Given the description of an element on the screen output the (x, y) to click on. 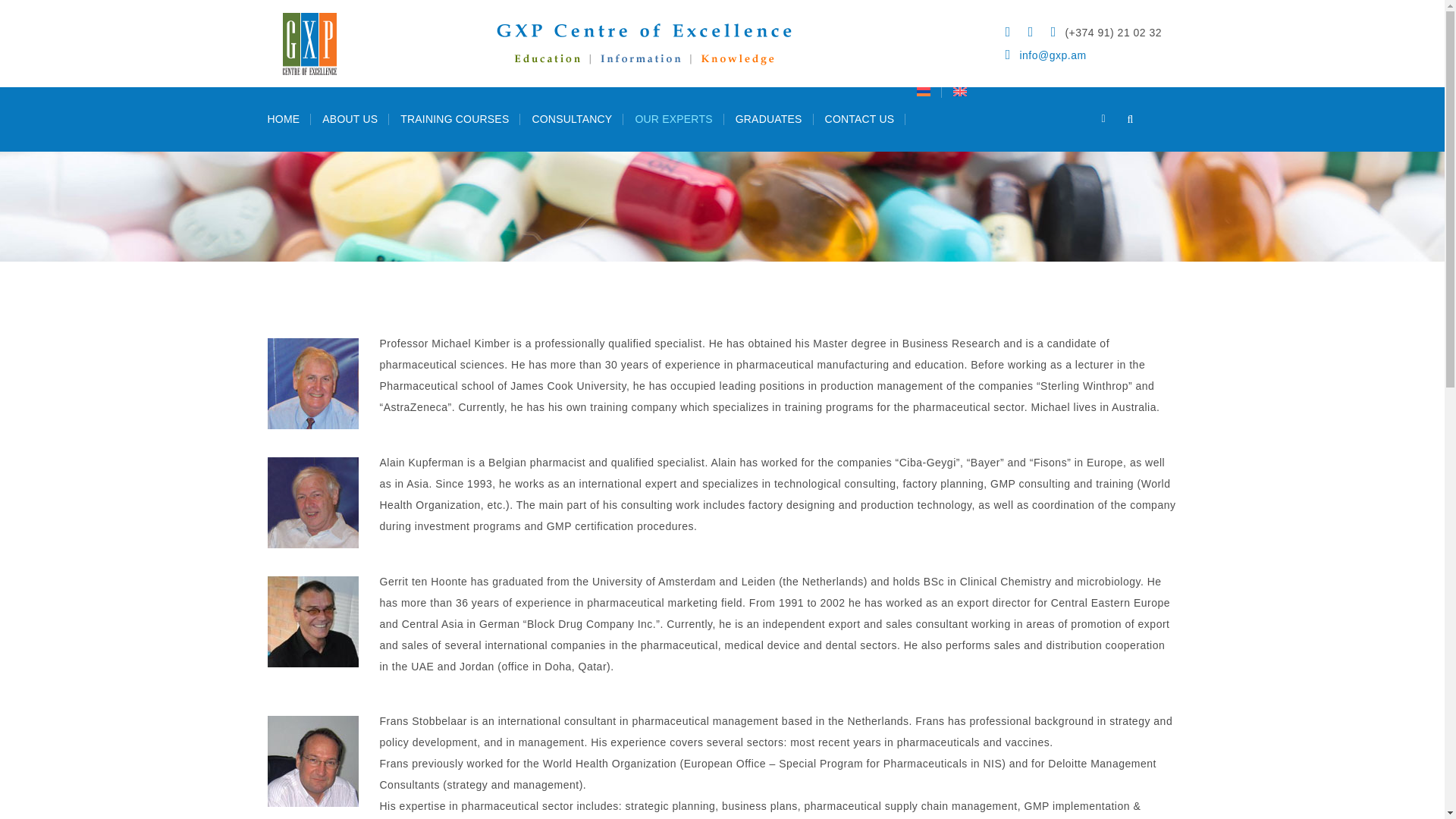
HOME (283, 118)
GXP (569, 44)
CONSULTANCY (571, 118)
GRADUATES (768, 118)
CONTACT US (859, 118)
OUR EXPERTS (673, 118)
TRAINING COURSES (453, 118)
ABOUT US (349, 118)
